Given the description of an element on the screen output the (x, y) to click on. 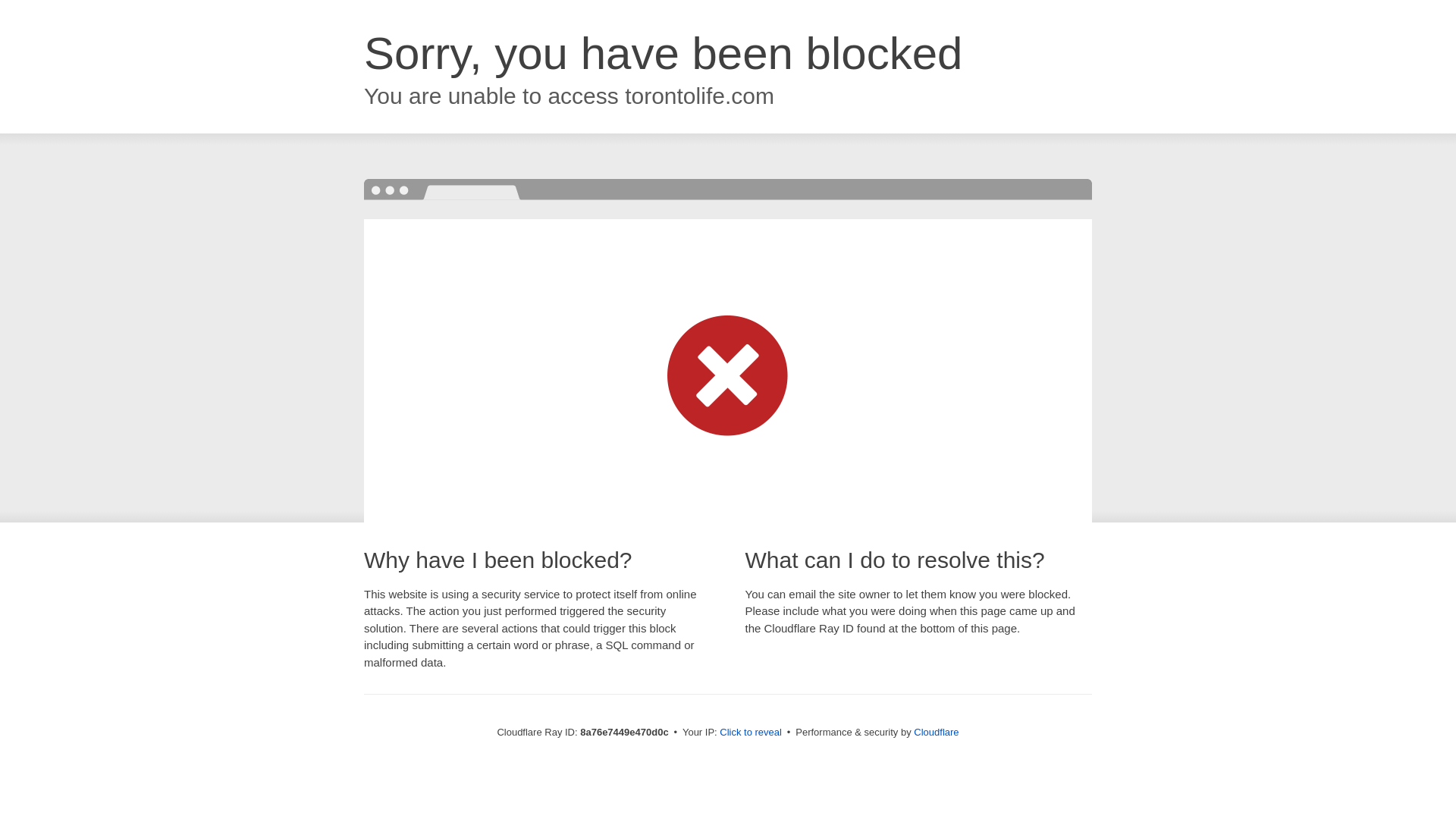
Cloudflare (936, 731)
Click to reveal (750, 732)
